Given the description of an element on the screen output the (x, y) to click on. 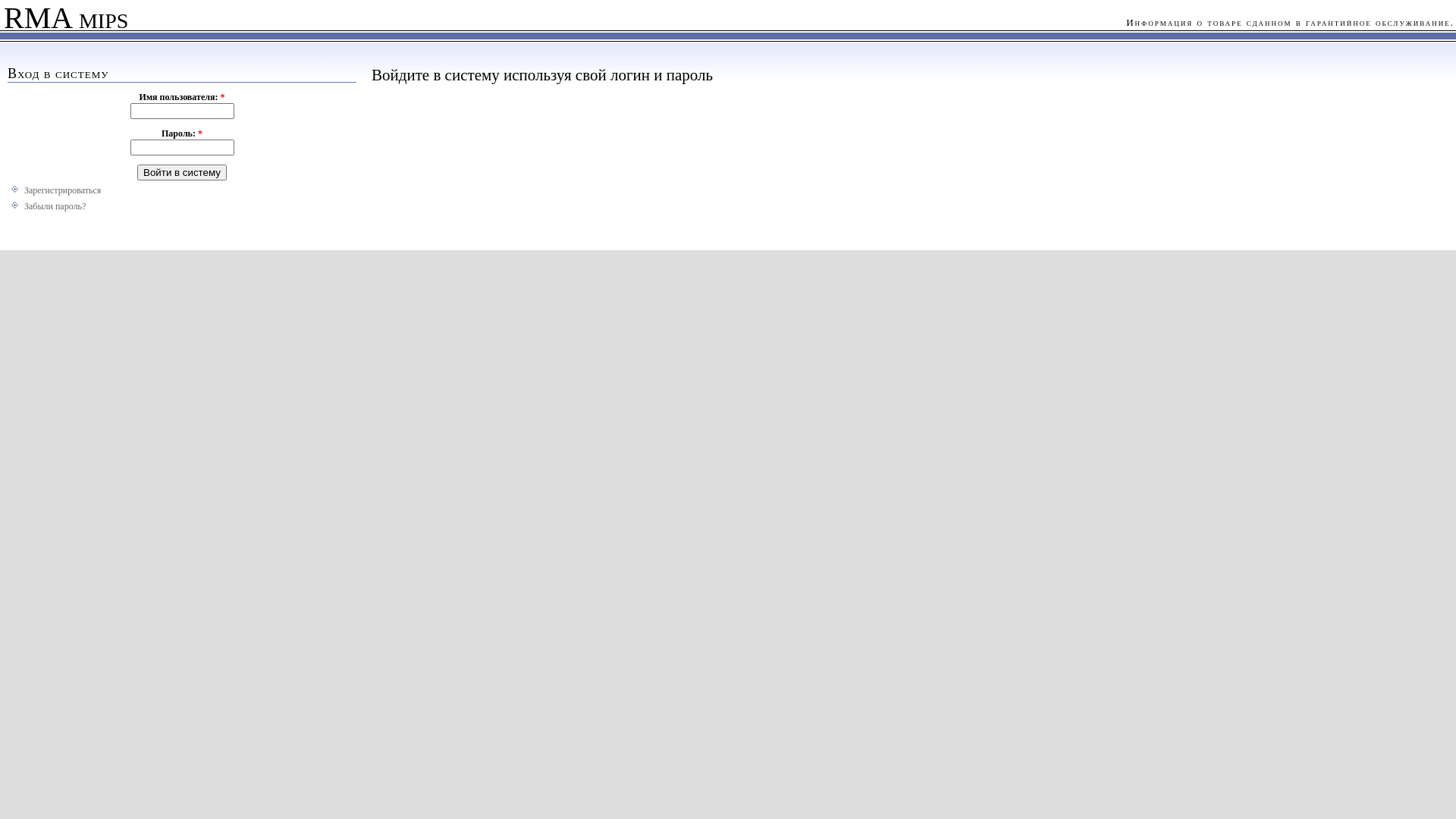
RMA mips Element type: text (64, 21)
